Given the description of an element on the screen output the (x, y) to click on. 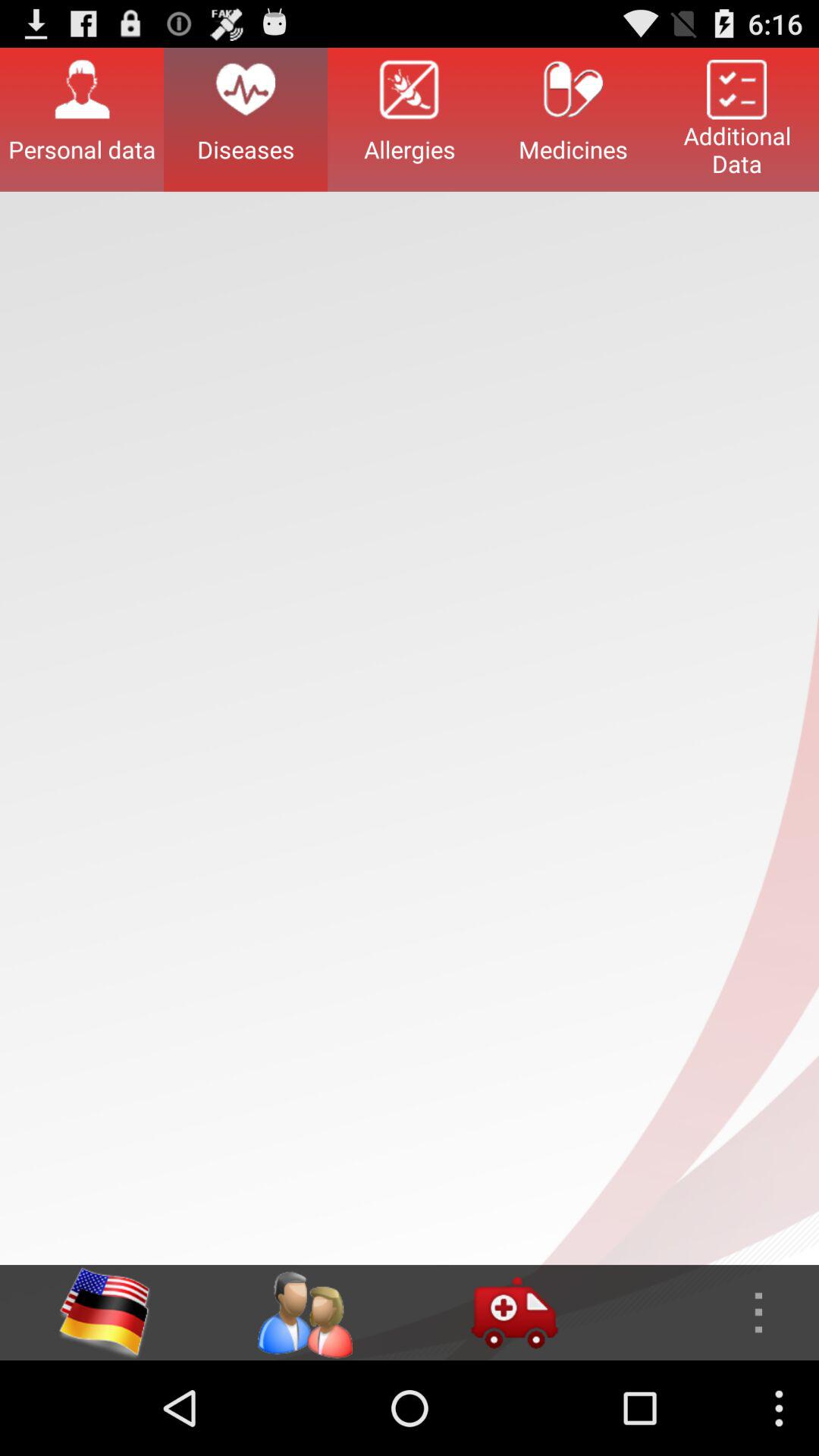
open emergency contact (514, 1312)
